Given the description of an element on the screen output the (x, y) to click on. 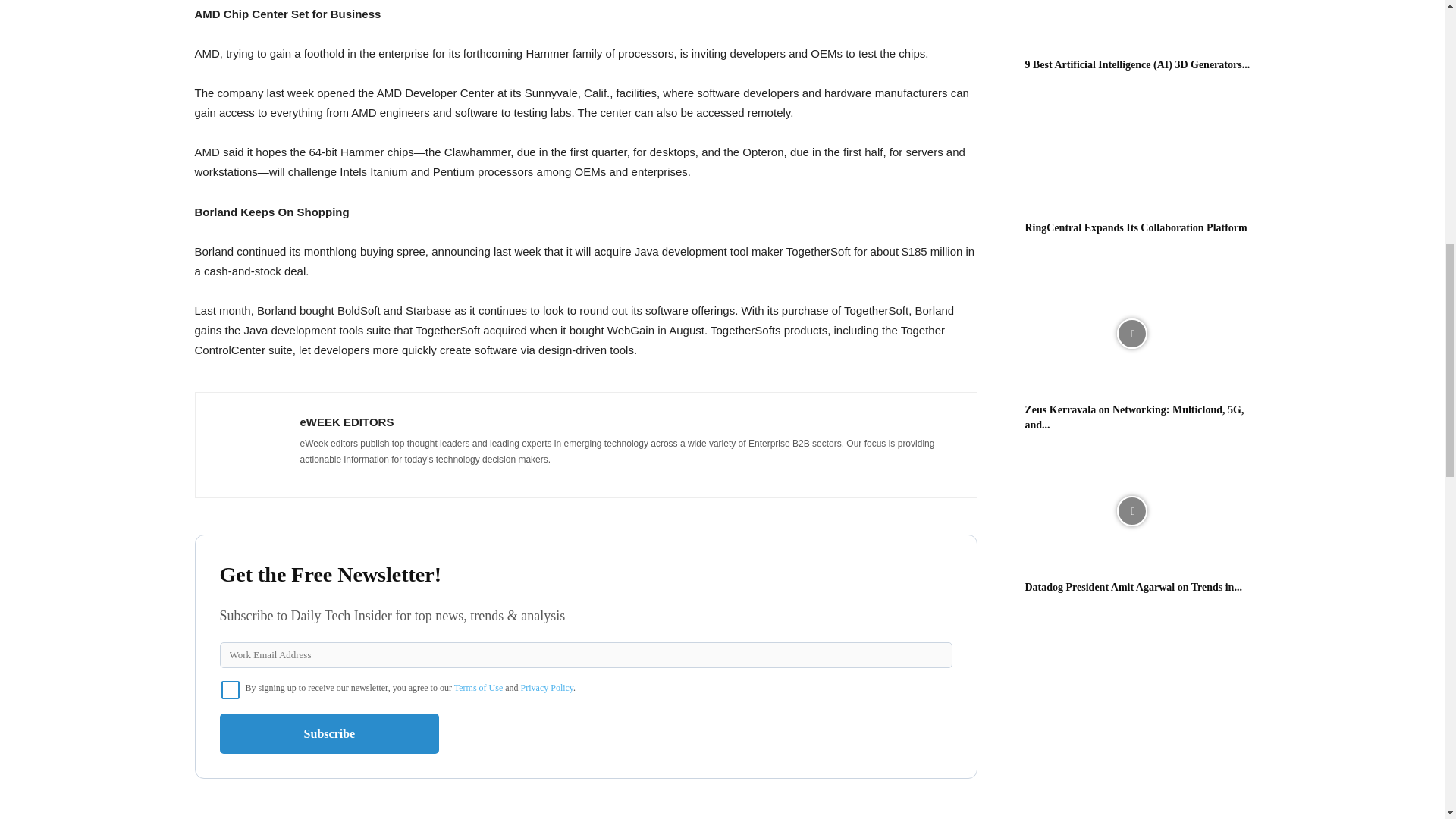
Zeus Kerravala on Networking: Multicloud, 5G, and Automation (1131, 333)
on (230, 689)
Zeus Kerravala on Networking: Multicloud, 5G, and Automation (1134, 417)
RingCentral Expands Its Collaboration Platform (1131, 151)
RingCentral Expands Its Collaboration Platform (1136, 227)
